Given the description of an element on the screen output the (x, y) to click on. 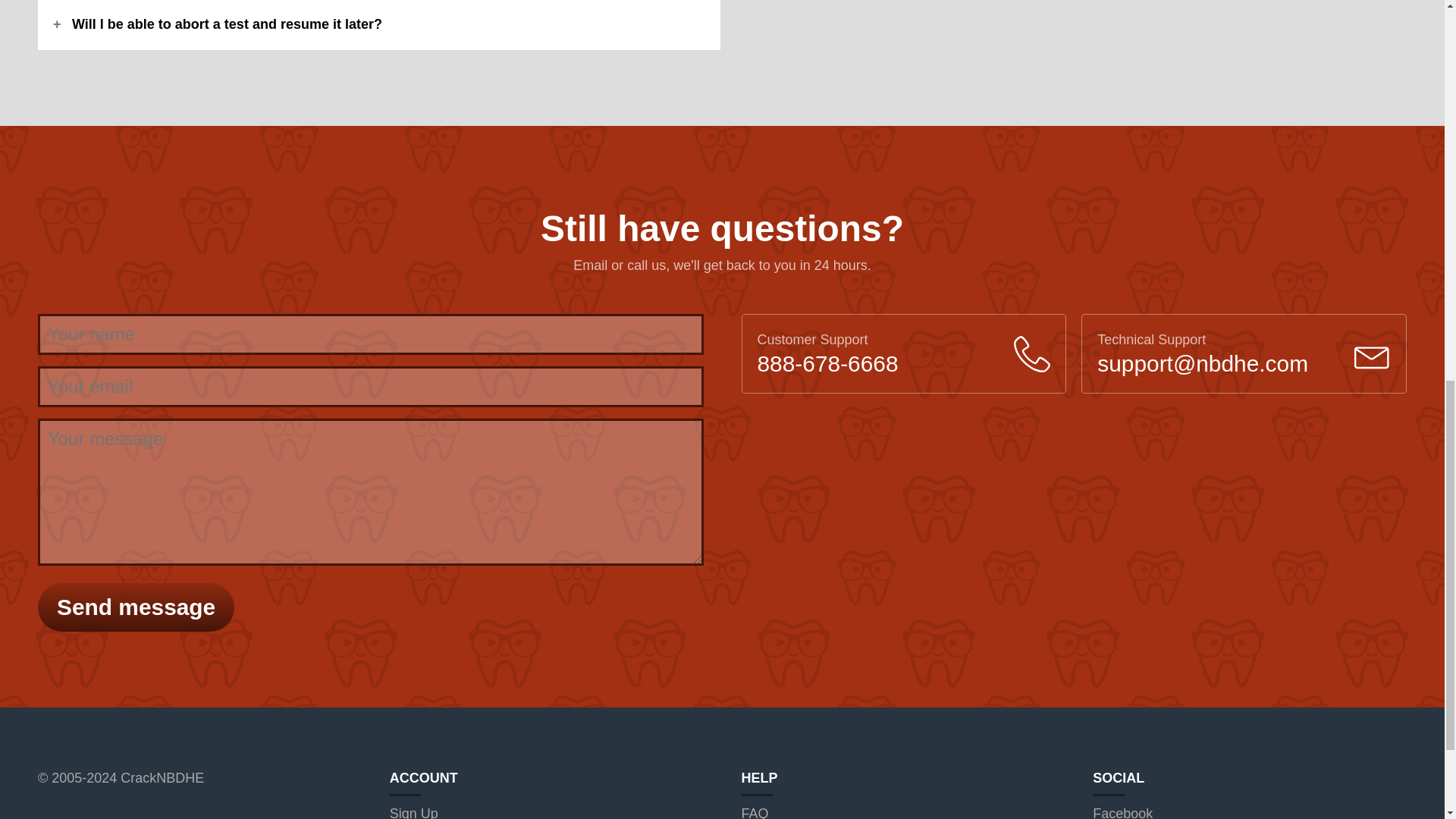
FAQ (754, 812)
Facebook (1123, 812)
Follow us on Facebook (1123, 812)
Send message (135, 607)
Email us (1202, 363)
Call us (827, 363)
Sign Up (414, 812)
888-678-6668 (827, 363)
